Given the description of an element on the screen output the (x, y) to click on. 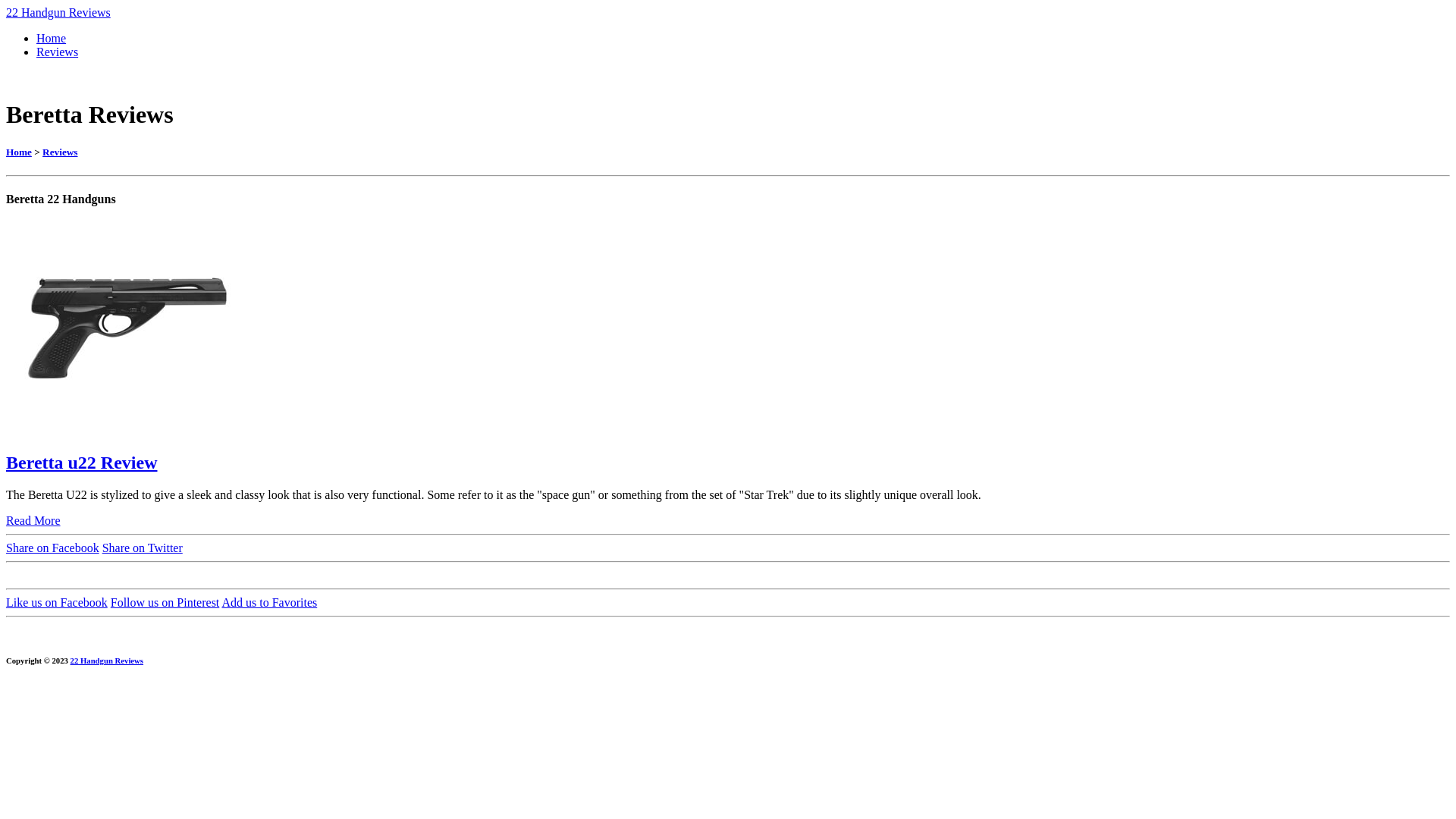
Like us on Facebook Element type: text (56, 602)
Follow us on Pinterest Element type: text (164, 602)
Home Element type: text (50, 37)
Reviews Element type: text (59, 151)
Share on Facebook Element type: text (52, 547)
Share on Twitter Element type: text (142, 547)
22 Handgun Reviews Element type: text (58, 12)
Add us to Favorites Element type: text (268, 602)
Reviews Element type: text (57, 51)
Home Element type: text (18, 151)
Read More Element type: text (33, 520)
Beretta u22 Review Element type: text (81, 462)
22 Handgun Reviews Element type: text (107, 660)
